Given the description of an element on the screen output the (x, y) to click on. 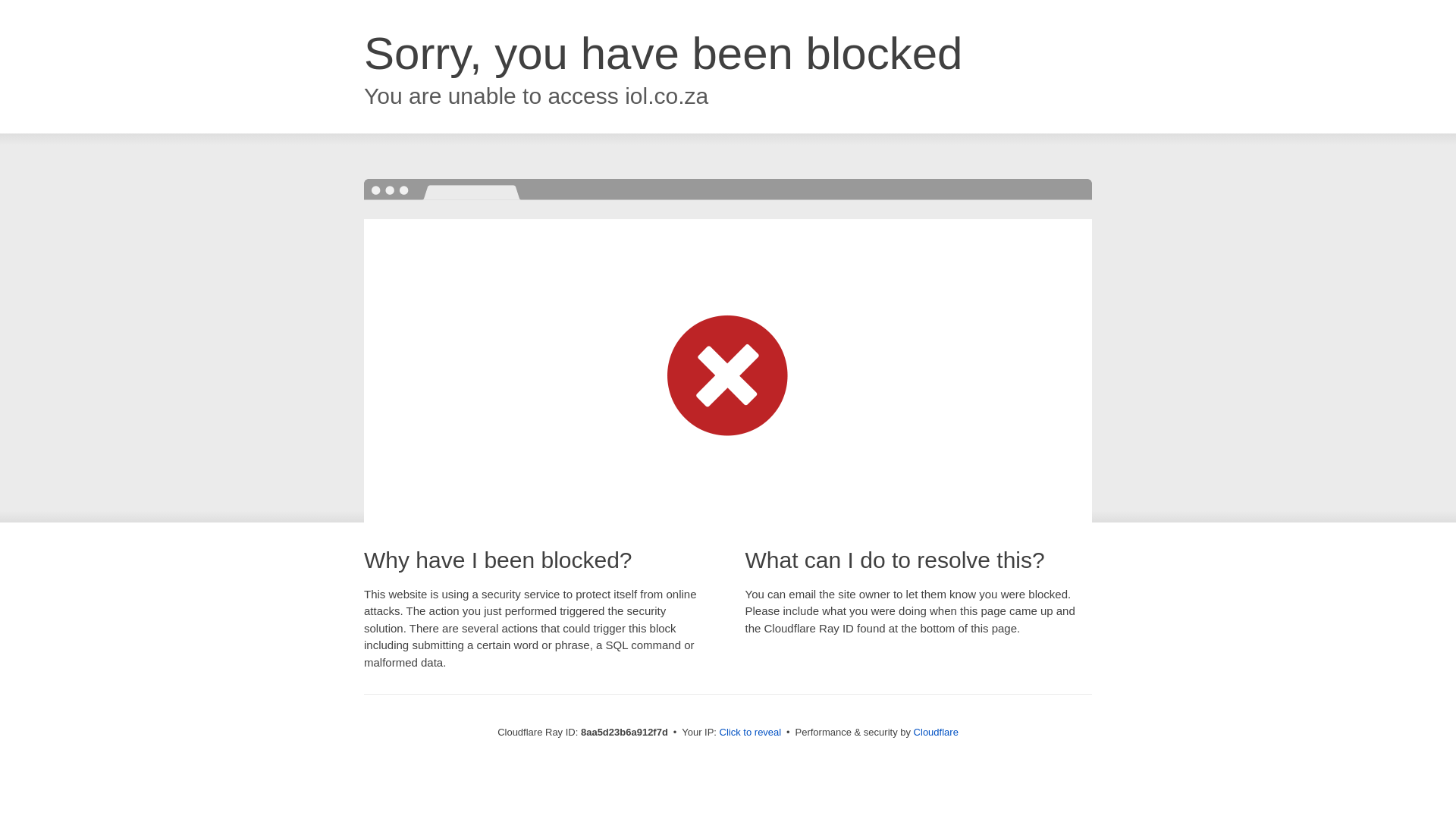
Cloudflare (936, 731)
Click to reveal (750, 732)
